Given the description of an element on the screen output the (x, y) to click on. 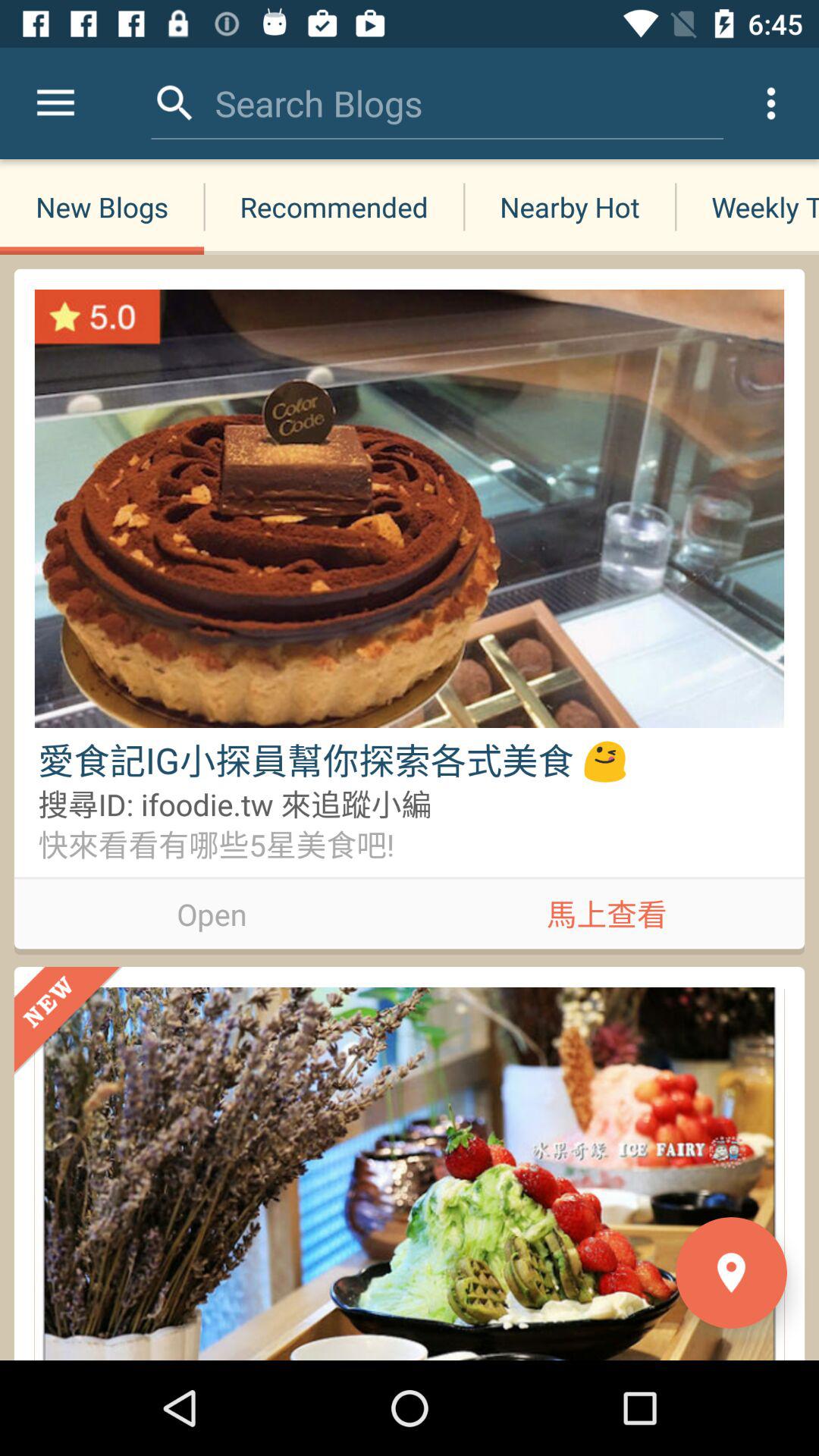
turn off the icon above weekly tops icon (771, 103)
